Given the description of an element on the screen output the (x, y) to click on. 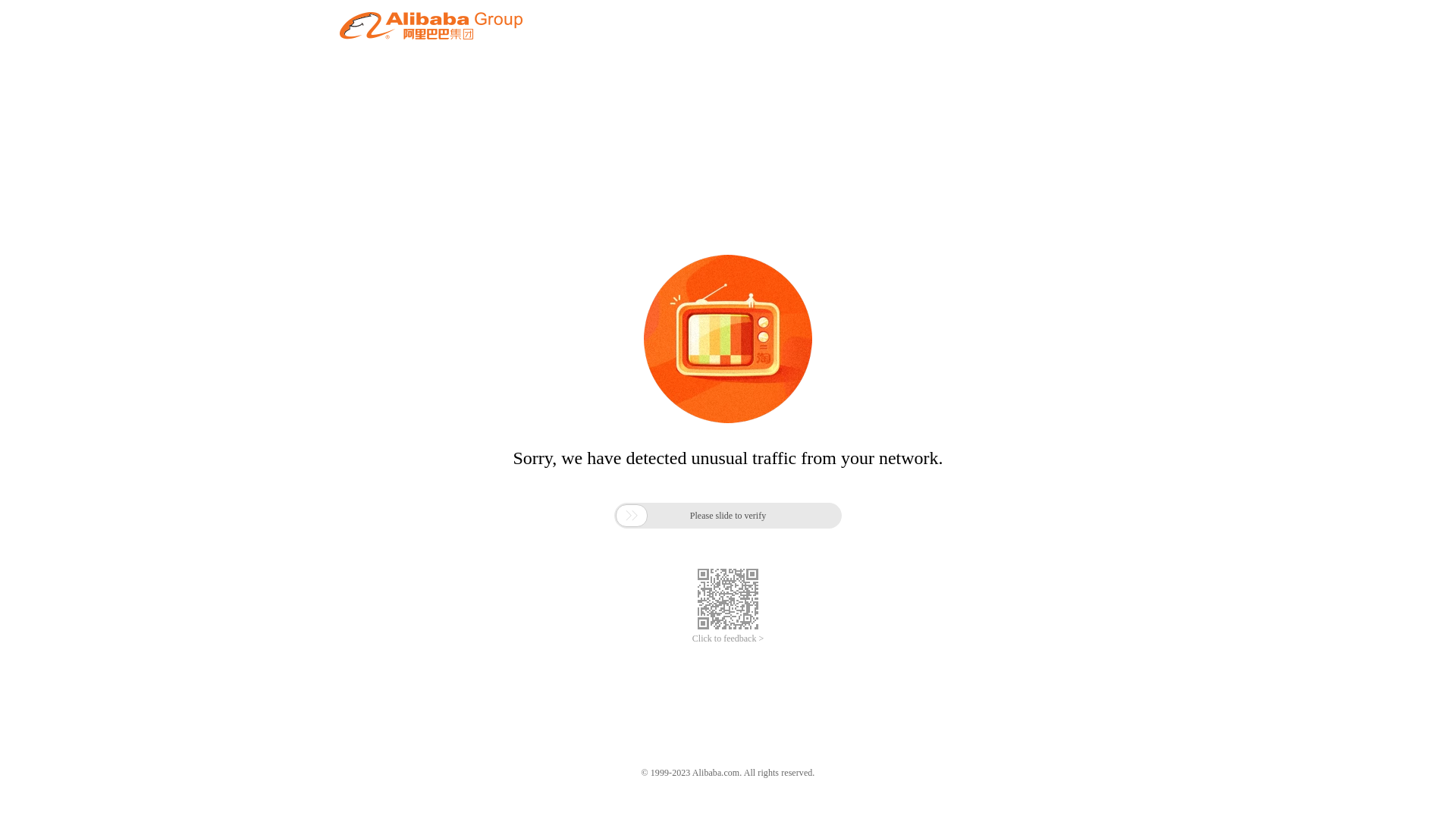
Click to feedback > Element type: text (727, 638)
